Given the description of an element on the screen output the (x, y) to click on. 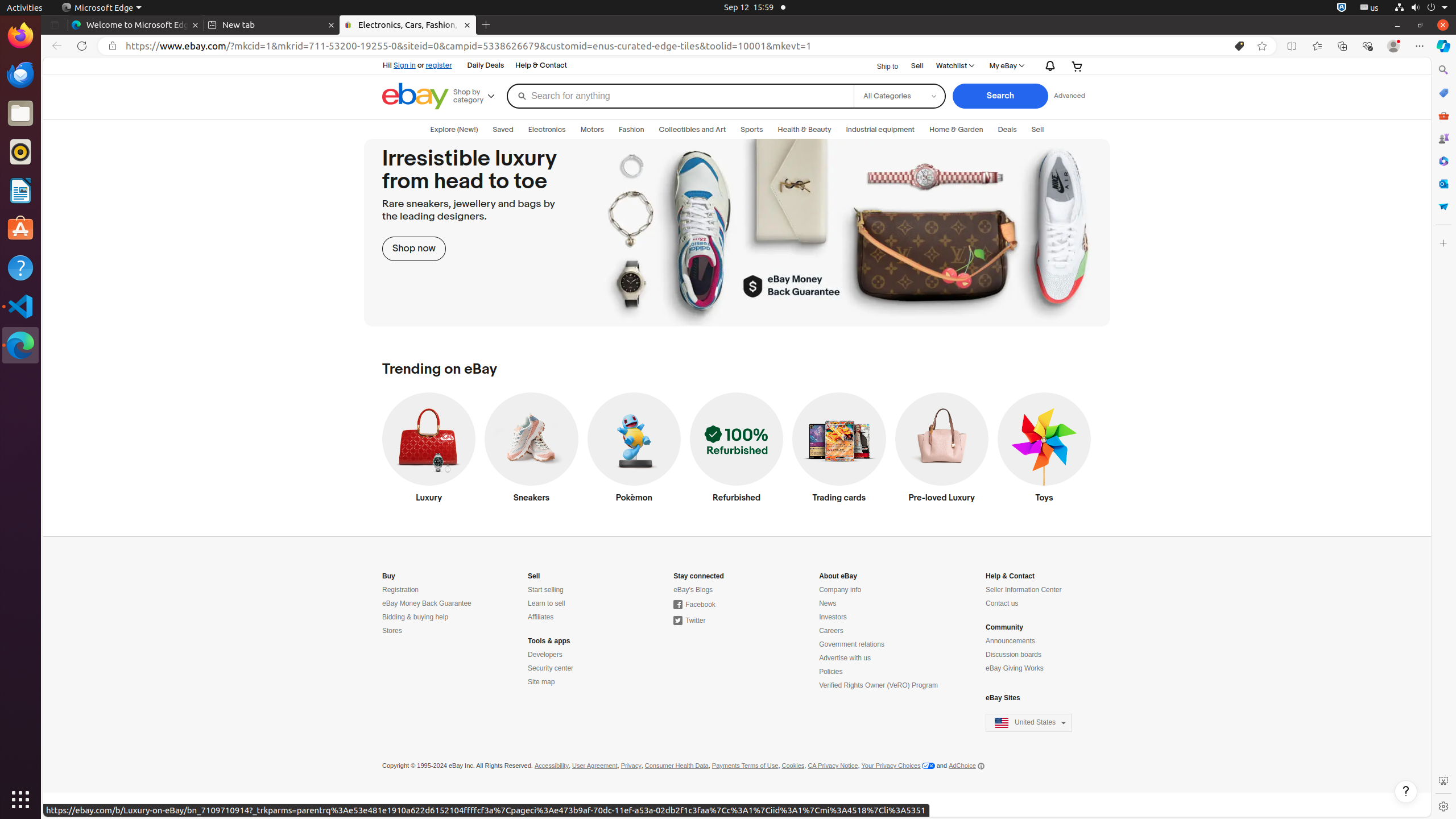
Settings and more (Alt+F) Element type: push-button (1419, 45)
Pre-loved Luxury Element type: link (941, 450)
Community Element type: link (1004, 627)
All Categories Element type: menu-item (898, 87)
News Element type: link (827, 603)
